Given the description of an element on the screen output the (x, y) to click on. 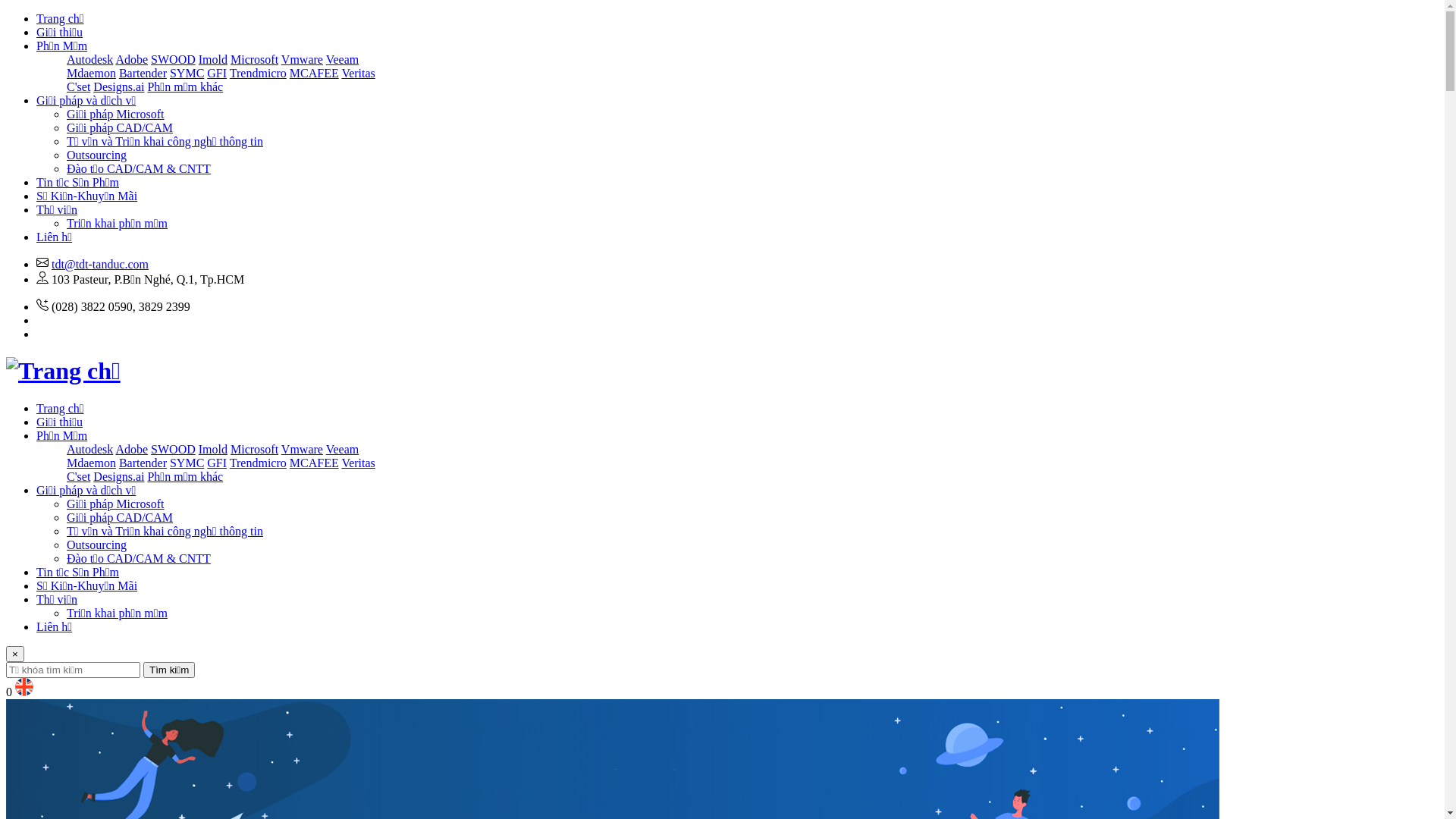
Veeam Element type: text (342, 59)
MCAFEE Element type: text (313, 72)
Veritas Element type: text (357, 72)
C'set Element type: text (78, 476)
Veritas Element type: text (357, 462)
Bartender Element type: text (142, 72)
Autodesk Element type: text (89, 448)
Vmware Element type: text (302, 59)
SWOOD Element type: text (172, 59)
Microsoft Element type: text (254, 59)
SYMC Element type: text (186, 462)
0 Element type: text (9, 691)
Imold Element type: text (212, 59)
C'set Element type: text (78, 86)
SYMC Element type: text (186, 72)
Outsourcing Element type: text (96, 154)
Adobe Element type: text (131, 59)
Mdaemon Element type: text (91, 72)
Outsourcing Element type: text (96, 544)
Microsoft Element type: text (254, 448)
Adobe Element type: text (131, 448)
Mdaemon Element type: text (91, 462)
Bartender Element type: text (142, 462)
MCAFEE Element type: text (313, 462)
Designs.ai Element type: text (118, 86)
Veeam Element type: text (342, 448)
GFI Element type: text (216, 462)
Imold Element type: text (212, 448)
Trendmicro Element type: text (257, 462)
GFI Element type: text (216, 72)
Autodesk Element type: text (89, 59)
Vmware Element type: text (302, 448)
tdt@tdt-tanduc.com Element type: text (99, 263)
Designs.ai Element type: text (118, 476)
Trendmicro Element type: text (257, 72)
SWOOD Element type: text (172, 448)
